Given the description of an element on the screen output the (x, y) to click on. 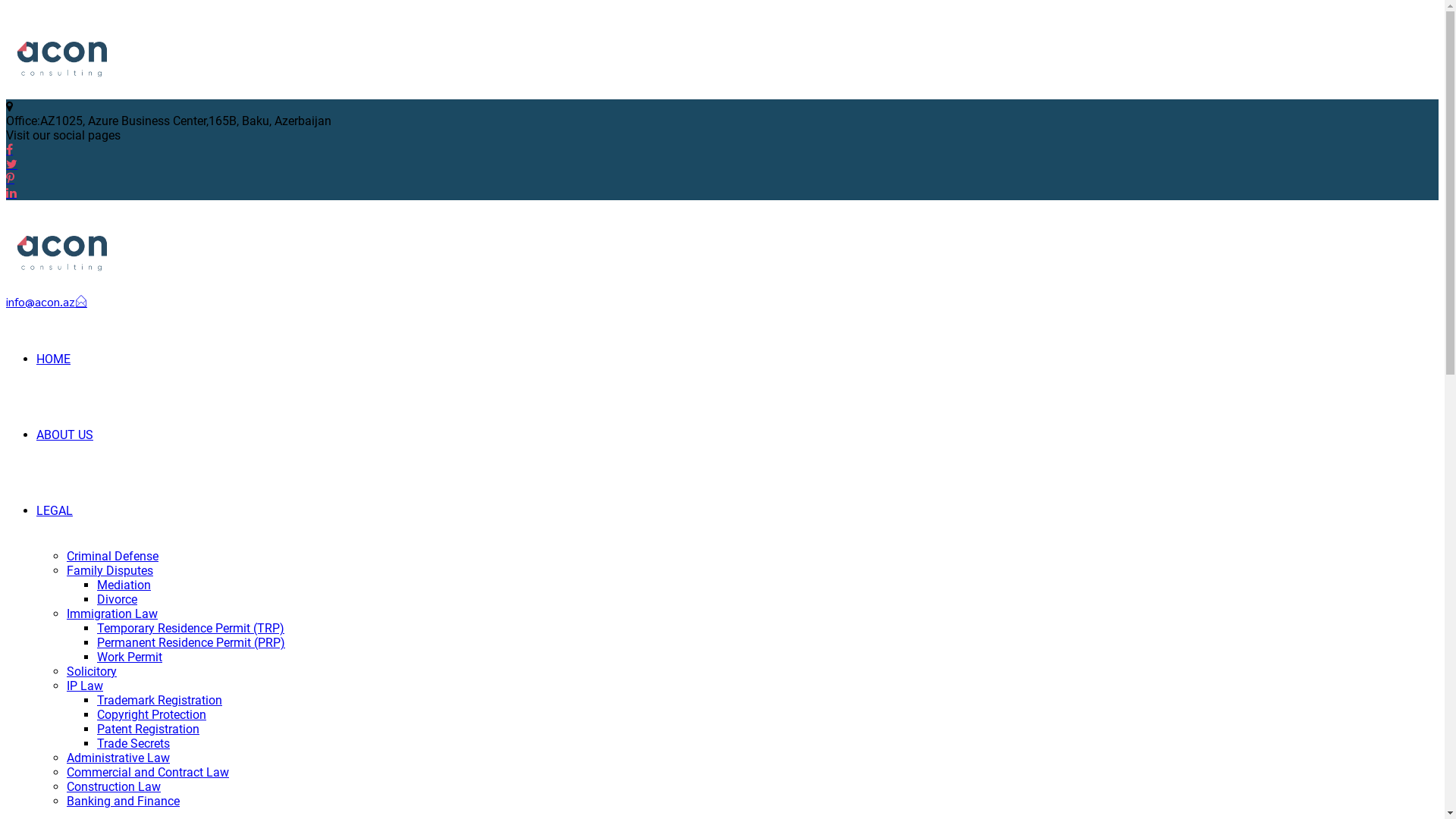
Trademark Registration Element type: text (159, 700)
Mediation Element type: text (123, 584)
HOME Element type: text (53, 358)
Patent Registration Element type: text (148, 728)
Solicitory Element type: text (91, 671)
Temporary Residence Permit (TRP) Element type: text (190, 628)
IP Law Element type: text (84, 685)
Banking and Finance Element type: text (122, 800)
info@acon.az Element type: text (46, 301)
Immigration Law Element type: text (111, 613)
ABOUT US Element type: text (64, 434)
LEGAL Element type: text (54, 510)
Permanent Residence Permit (PRP) Element type: text (191, 642)
Trade Secrets Element type: text (133, 743)
Criminal Defense Element type: text (112, 556)
Copyright Protection Element type: text (151, 714)
Divorce Element type: text (117, 599)
Commercial and Contract Law Element type: text (147, 772)
Family Disputes Element type: text (109, 570)
Administrative Law Element type: text (117, 757)
Work Permit Element type: text (129, 656)
Construction Law Element type: text (113, 786)
